Given the description of an element on the screen output the (x, y) to click on. 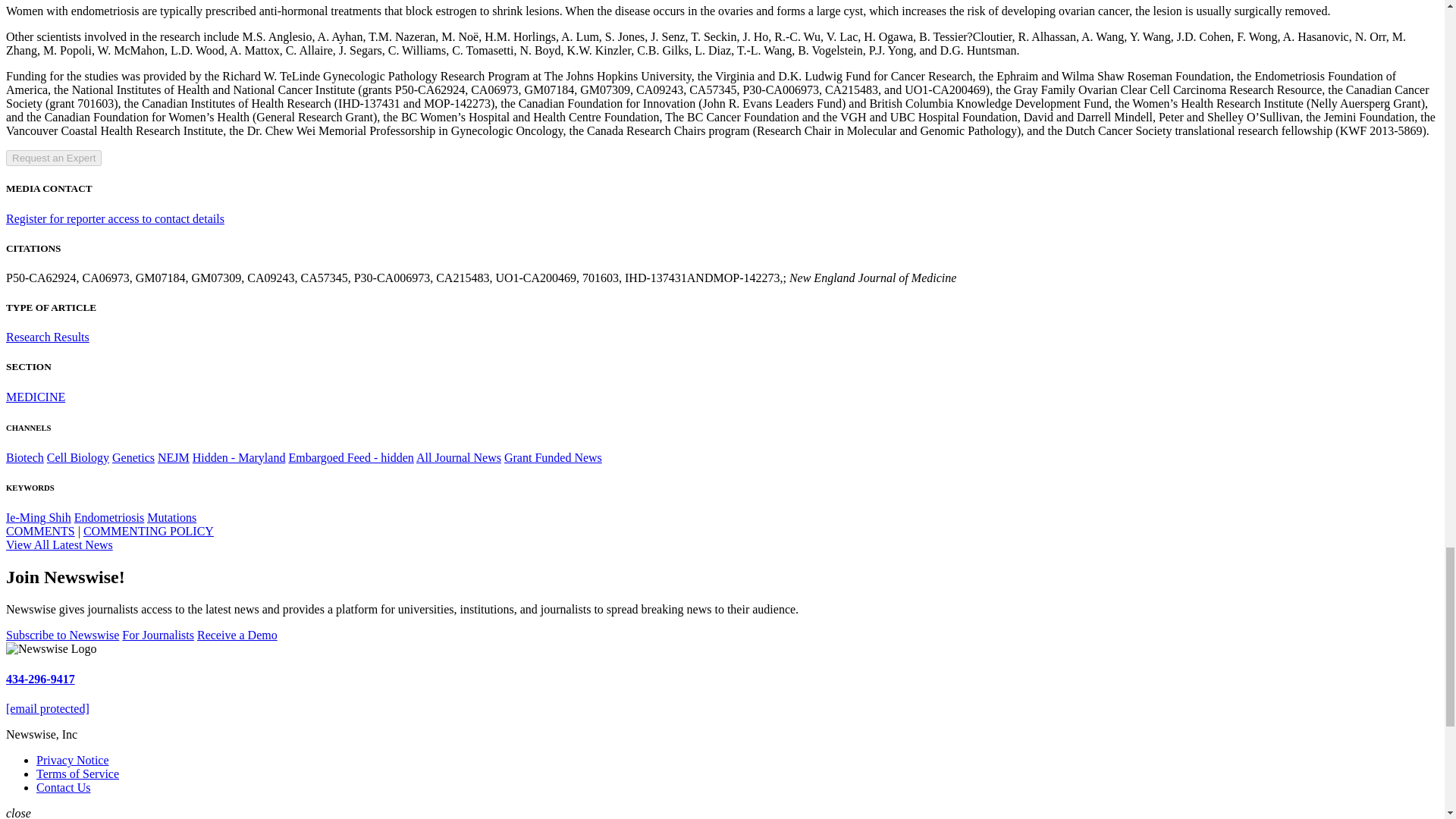
Show all articles in this channel (24, 456)
Show all articles in this channel (133, 456)
Research Results (46, 336)
Show all articles in this channel (35, 396)
Show all articles in this channel (77, 456)
